Given the description of an element on the screen output the (x, y) to click on. 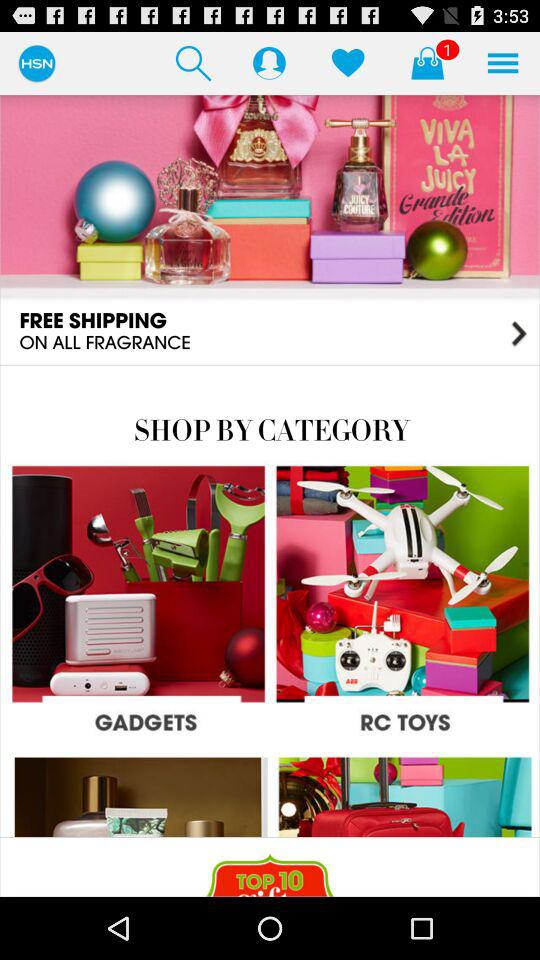
like the store (348, 62)
